Given the description of an element on the screen output the (x, y) to click on. 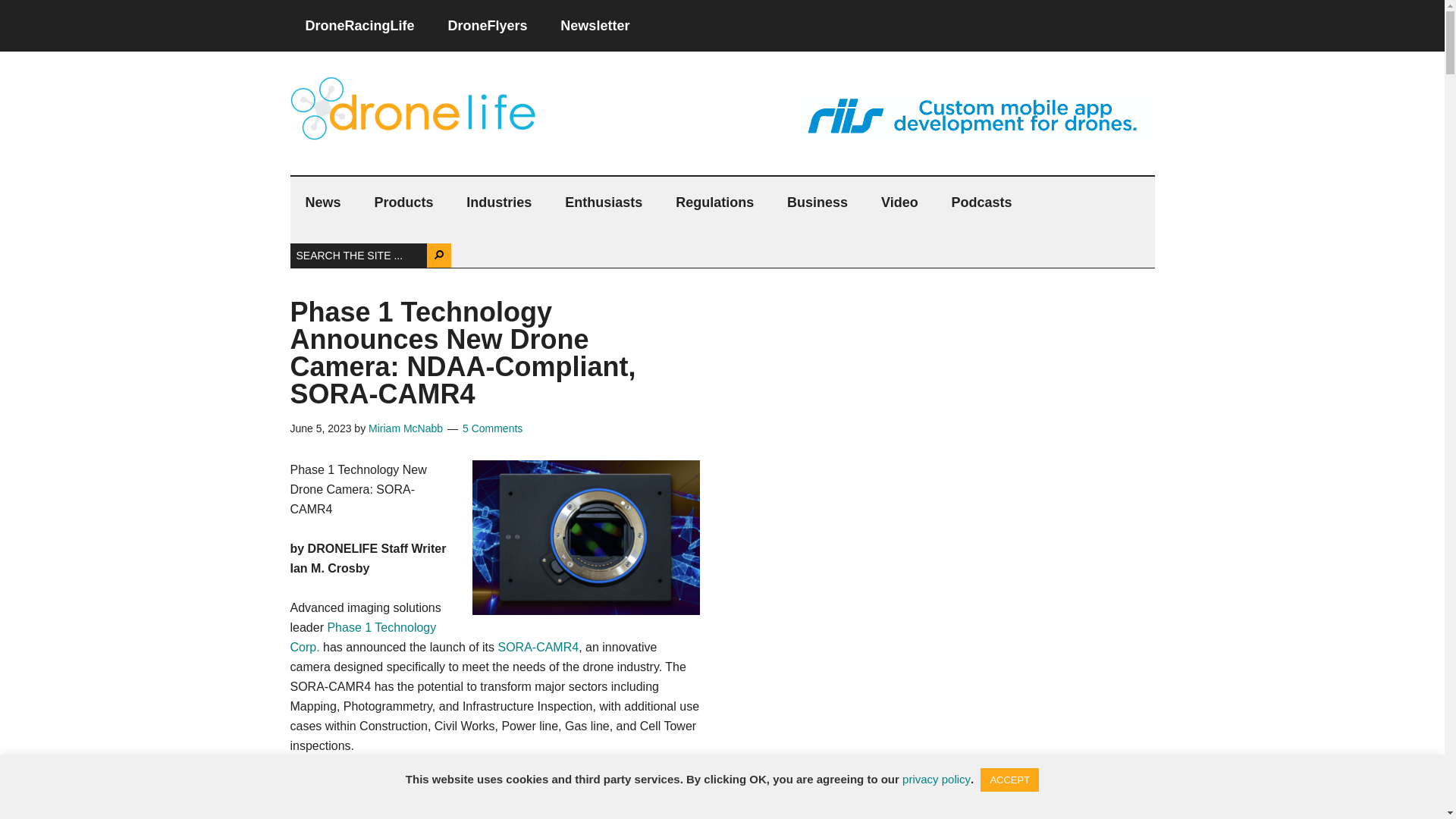
DroneFlyers (486, 25)
Enthusiasts (604, 202)
Regulations (714, 202)
News (322, 202)
Video (899, 202)
DroneRacingLife (359, 25)
SEARCH (437, 255)
Phase 1 Technology Corp. (362, 636)
Miriam McNabb (405, 428)
Industries (499, 202)
Products (403, 202)
Business (817, 202)
5 Comments (492, 428)
Podcasts (981, 202)
